Given the description of an element on the screen output the (x, y) to click on. 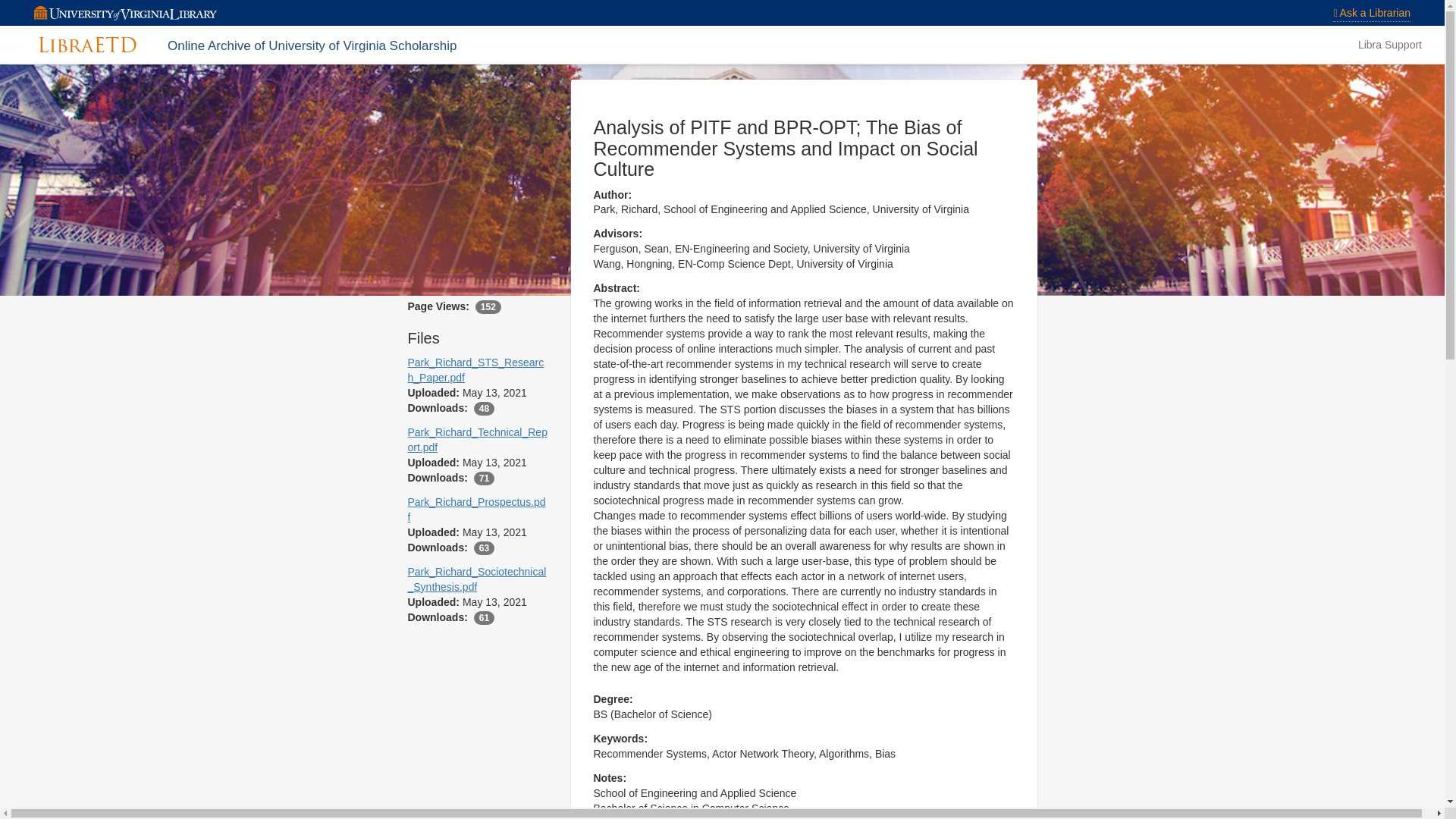
Libra Support (1389, 44)
Ask a Librarian (1371, 13)
